Given the description of an element on the screen output the (x, y) to click on. 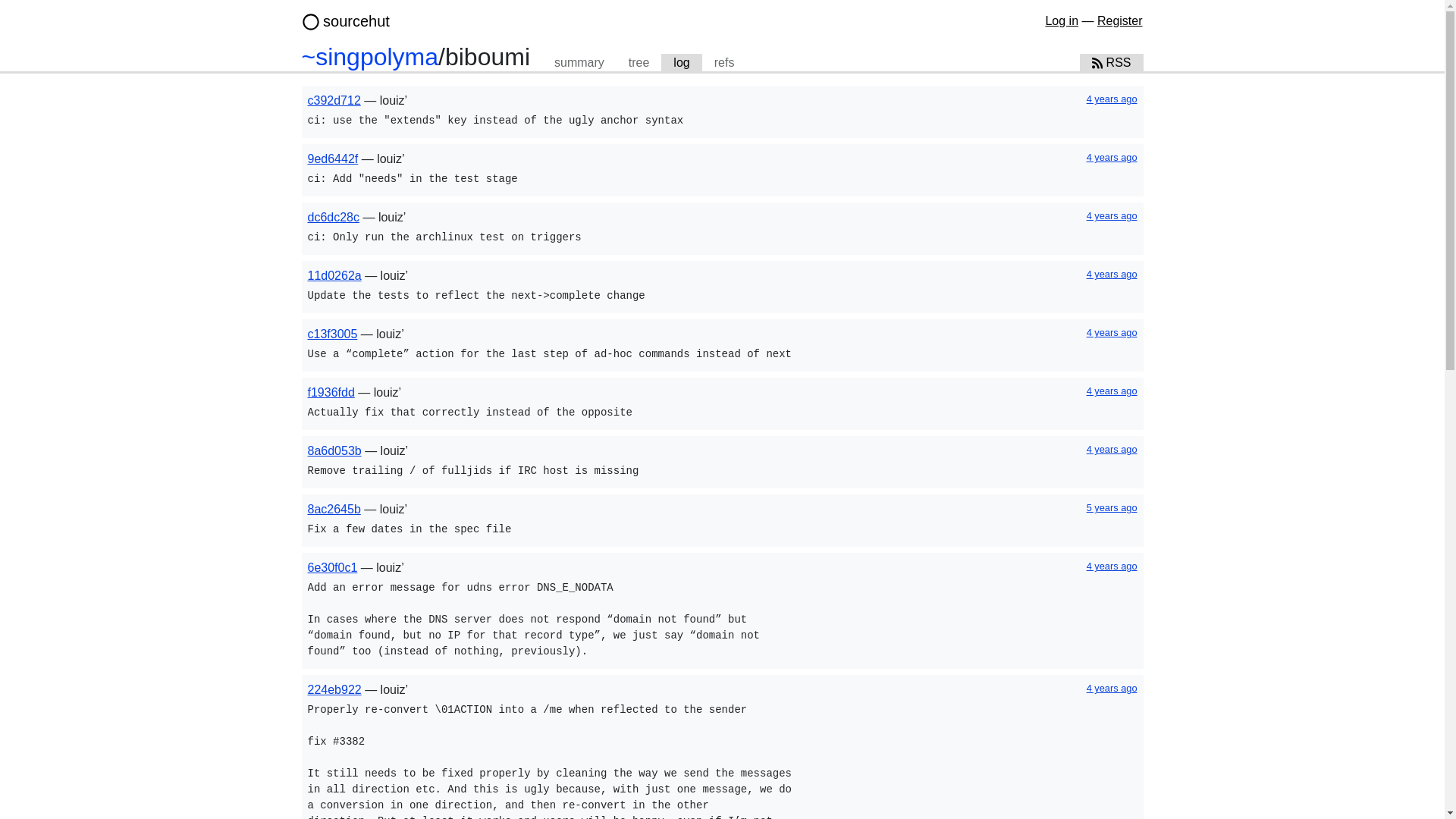
8ac2645b02fe6a7f4d883f786009ab5626015328 (334, 508)
11d0262a (334, 275)
2019-08-20 19:22:30 UTC (1111, 449)
2019-08-28 20:58:30 UTC (1111, 332)
4 years ago (1111, 565)
6e30f0c1941712a788dc13f516dc9a0f1e273cb5 (332, 567)
2019-08-30 09:40:42 UTC (1111, 565)
2019-08-30 09:39:56 UTC (1111, 274)
summary (578, 63)
2019-09-13 06:57:08 UTC (1111, 215)
